Given the description of an element on the screen output the (x, y) to click on. 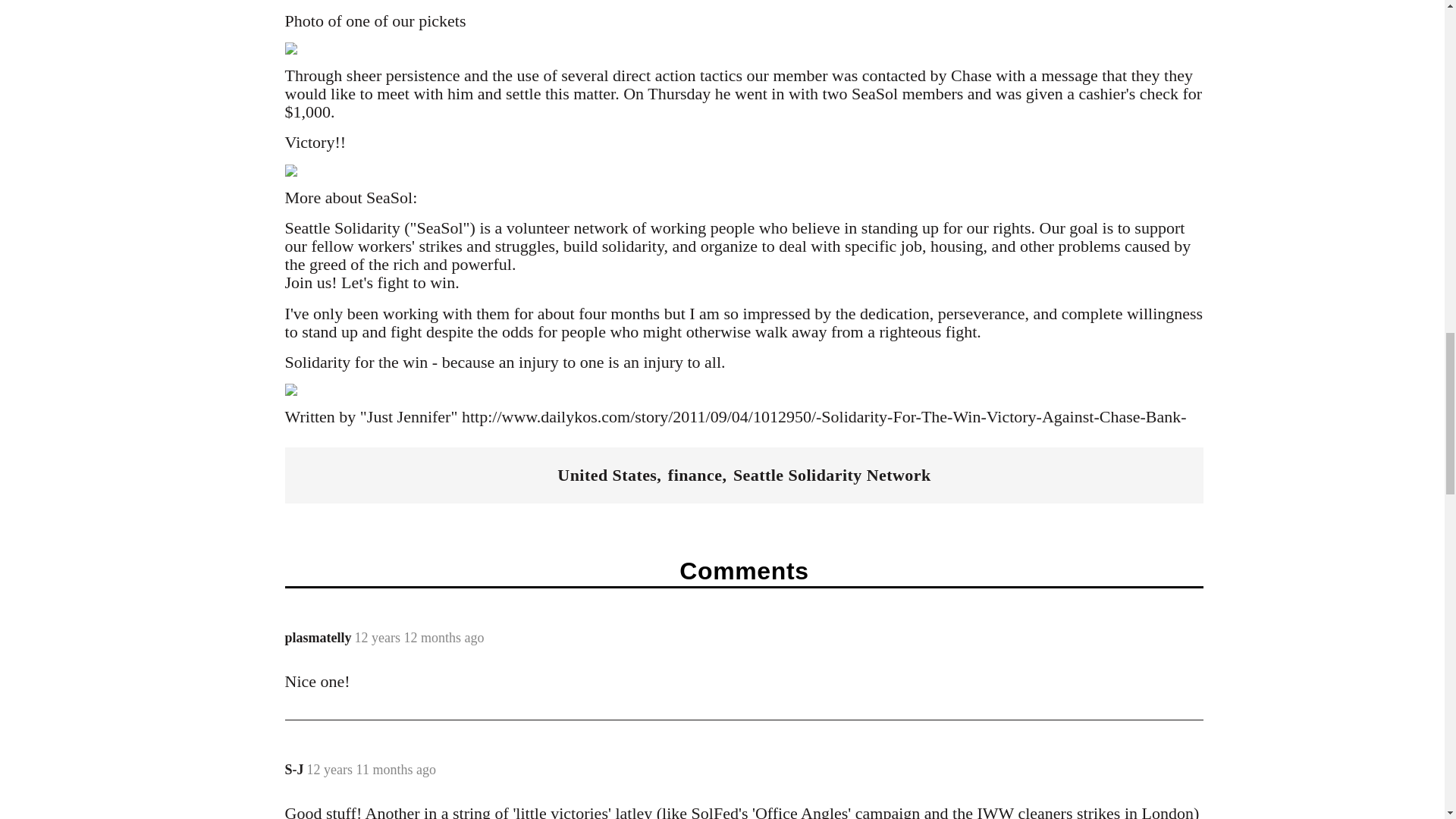
finance (695, 475)
United States (606, 475)
Seattle Solidarity Network (832, 475)
